Given the description of an element on the screen output the (x, y) to click on. 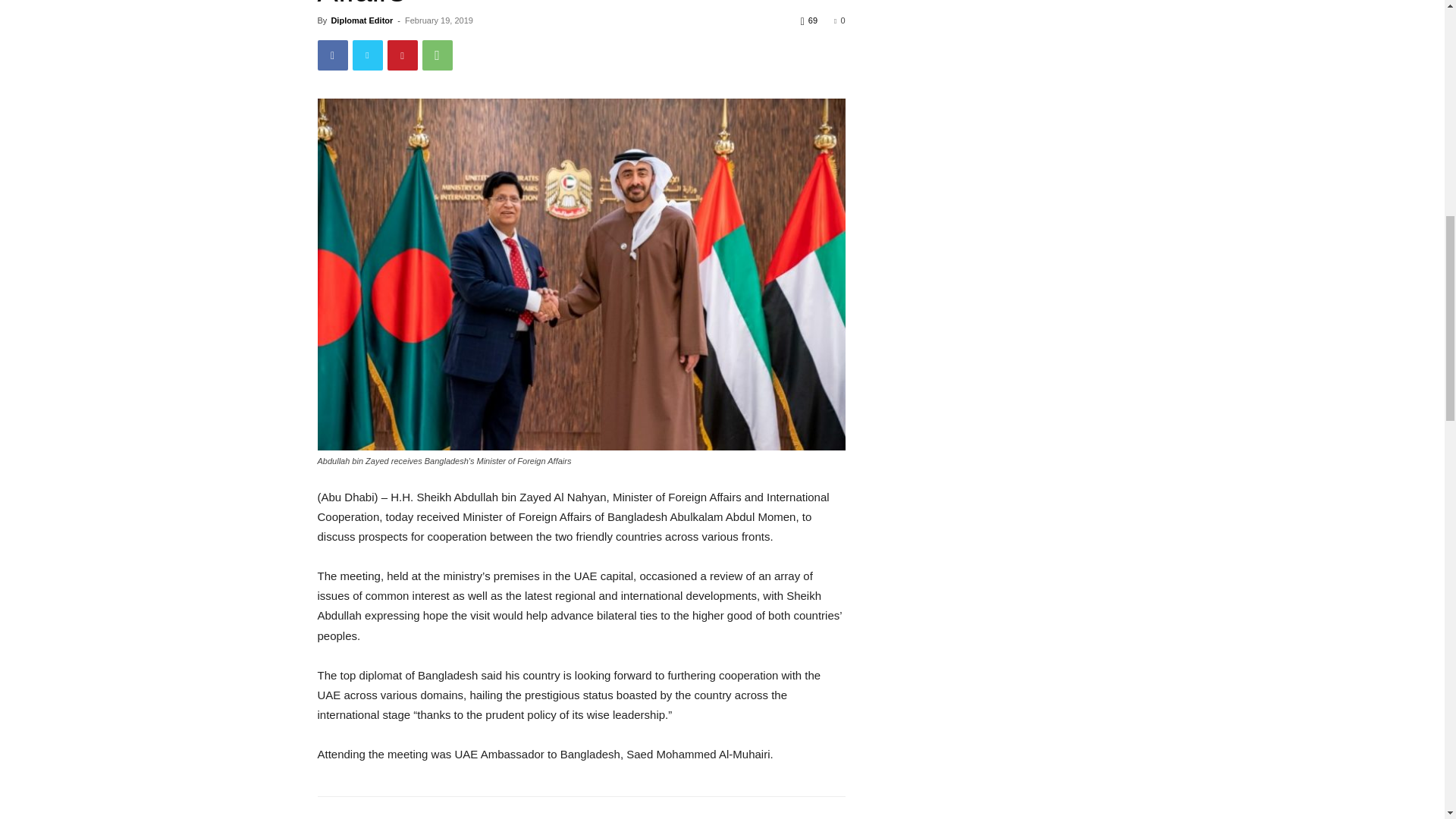
Pinterest (401, 55)
0 (839, 20)
Twitter (366, 55)
Facebook (332, 55)
WhatsApp (436, 55)
Diplomat Editor (361, 20)
